Given the description of an element on the screen output the (x, y) to click on. 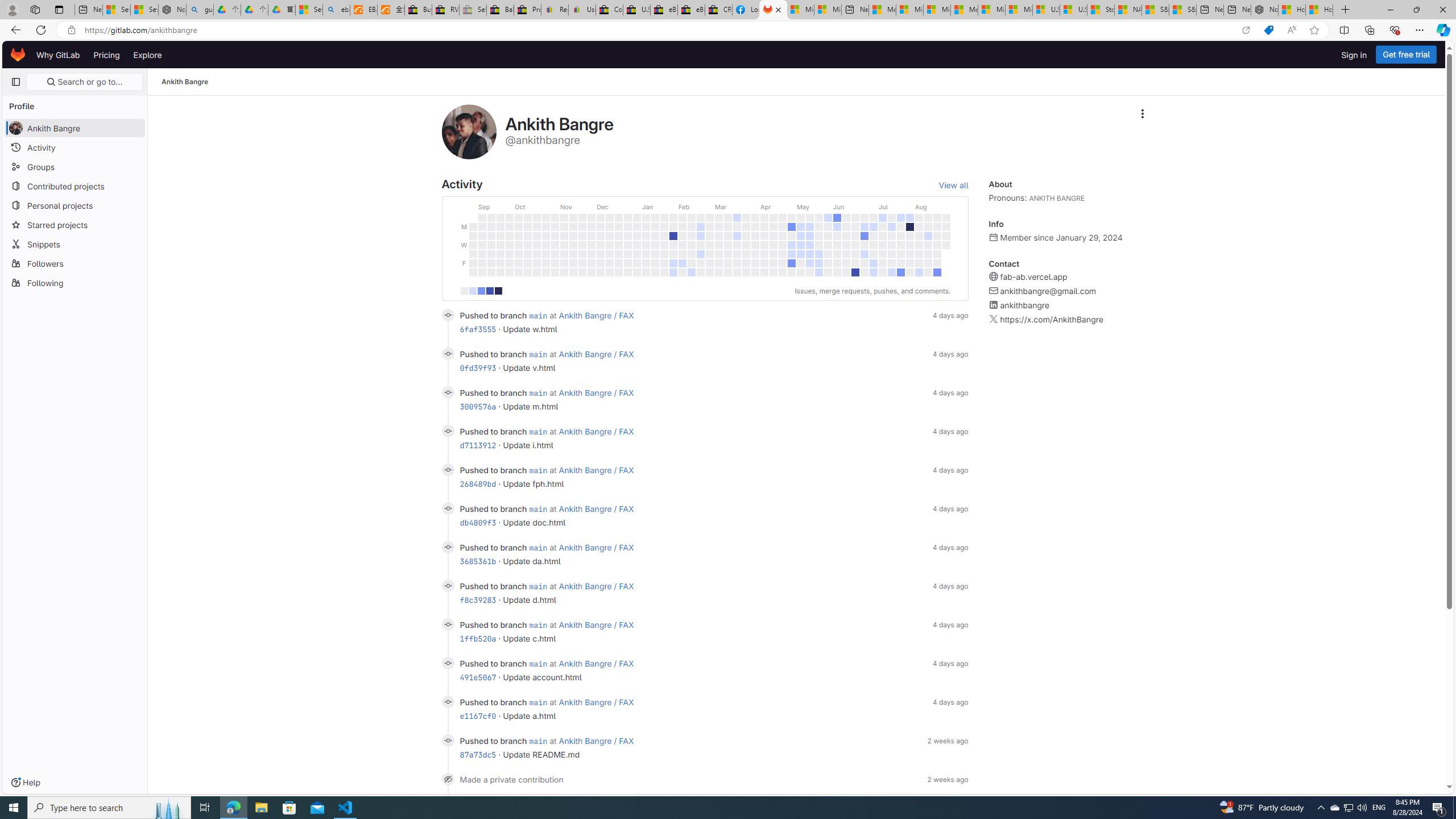
Log into Facebook (746, 9)
Contributed projects (74, 185)
